Given the description of an element on the screen output the (x, y) to click on. 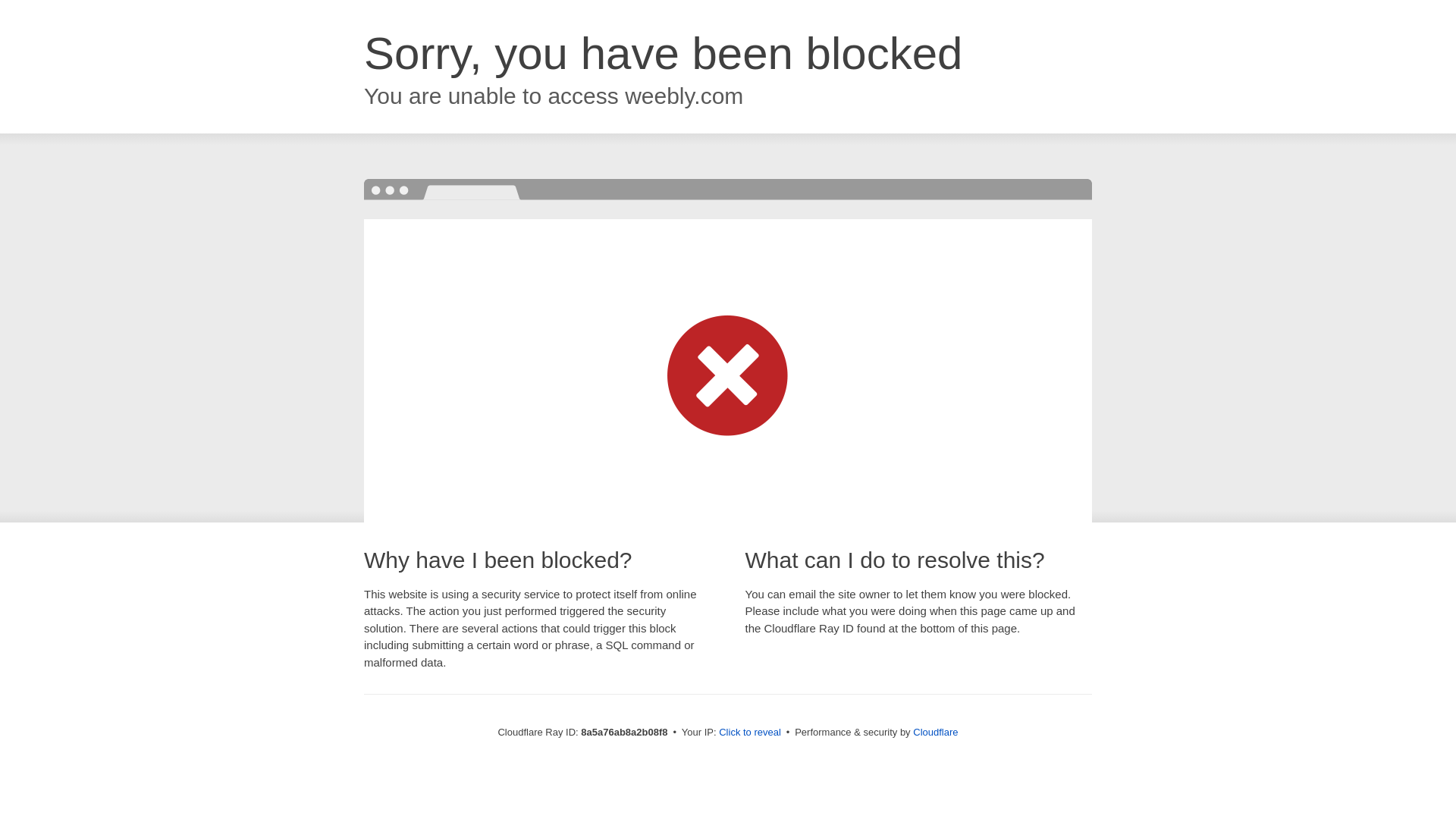
Cloudflare (935, 731)
Click to reveal (749, 732)
